Given the description of an element on the screen output the (x, y) to click on. 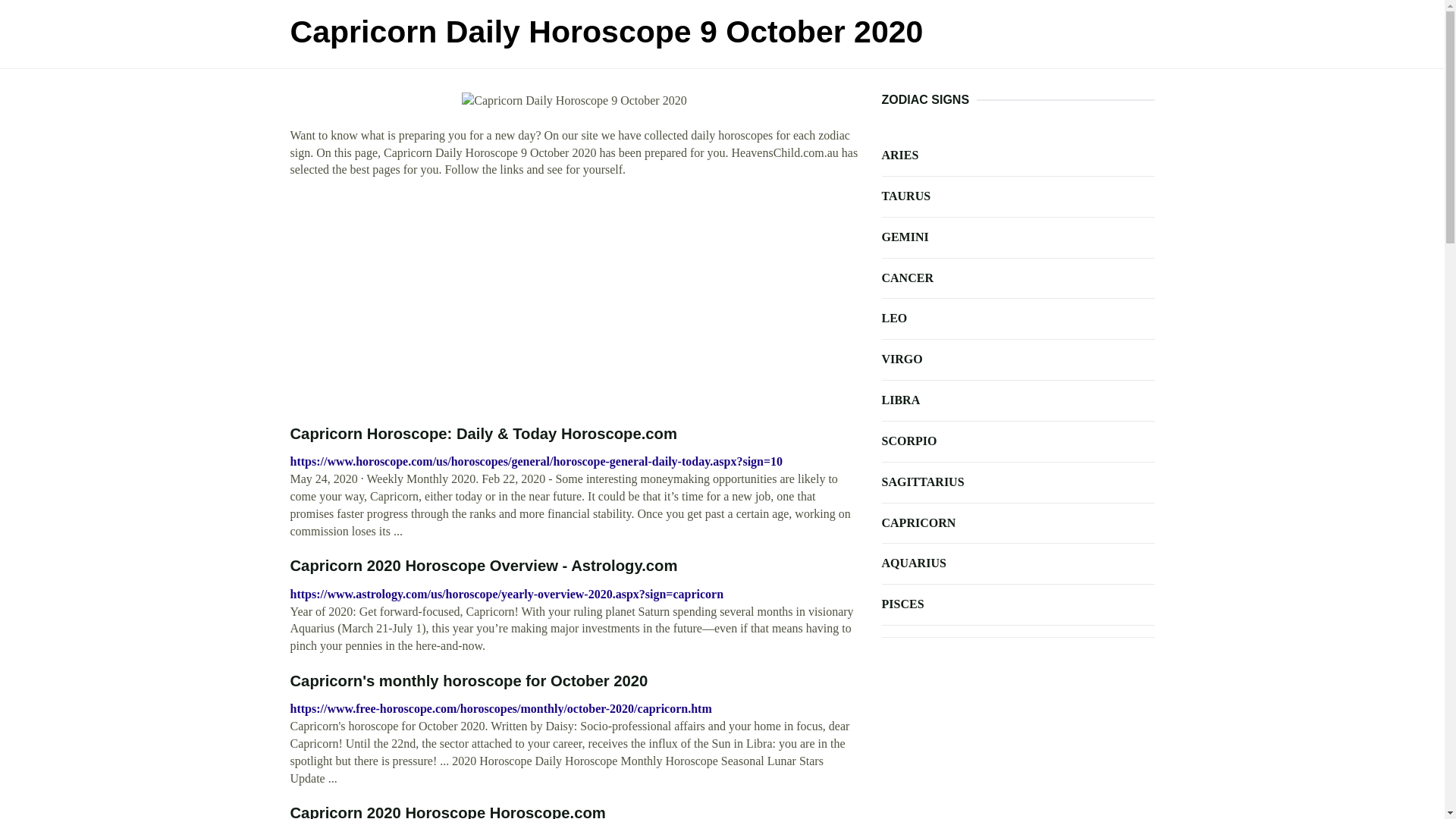
SCORPIO Element type: text (1017, 441)
GEMINI Element type: text (1017, 237)
VIRGO Element type: text (1017, 359)
Capricorn 2020 Horoscope Overview - Astrology.com Element type: text (483, 565)
Capricorn Horoscope: Daily & Today Horoscope.com Element type: text (482, 433)
Capricorn's monthly horoscope for October 2020 Element type: text (468, 680)
Advertisement Element type: hover (573, 301)
CANCER Element type: text (1017, 278)
TAURUS Element type: text (1017, 196)
SAGITTARIUS Element type: text (1017, 482)
AQUARIUS Element type: text (1017, 563)
ARIES Element type: text (1017, 155)
CAPRICORN Element type: text (1017, 523)
LEO Element type: text (1017, 318)
LIBRA Element type: text (1017, 400)
PISCES Element type: text (1017, 604)
